Given the description of an element on the screen output the (x, y) to click on. 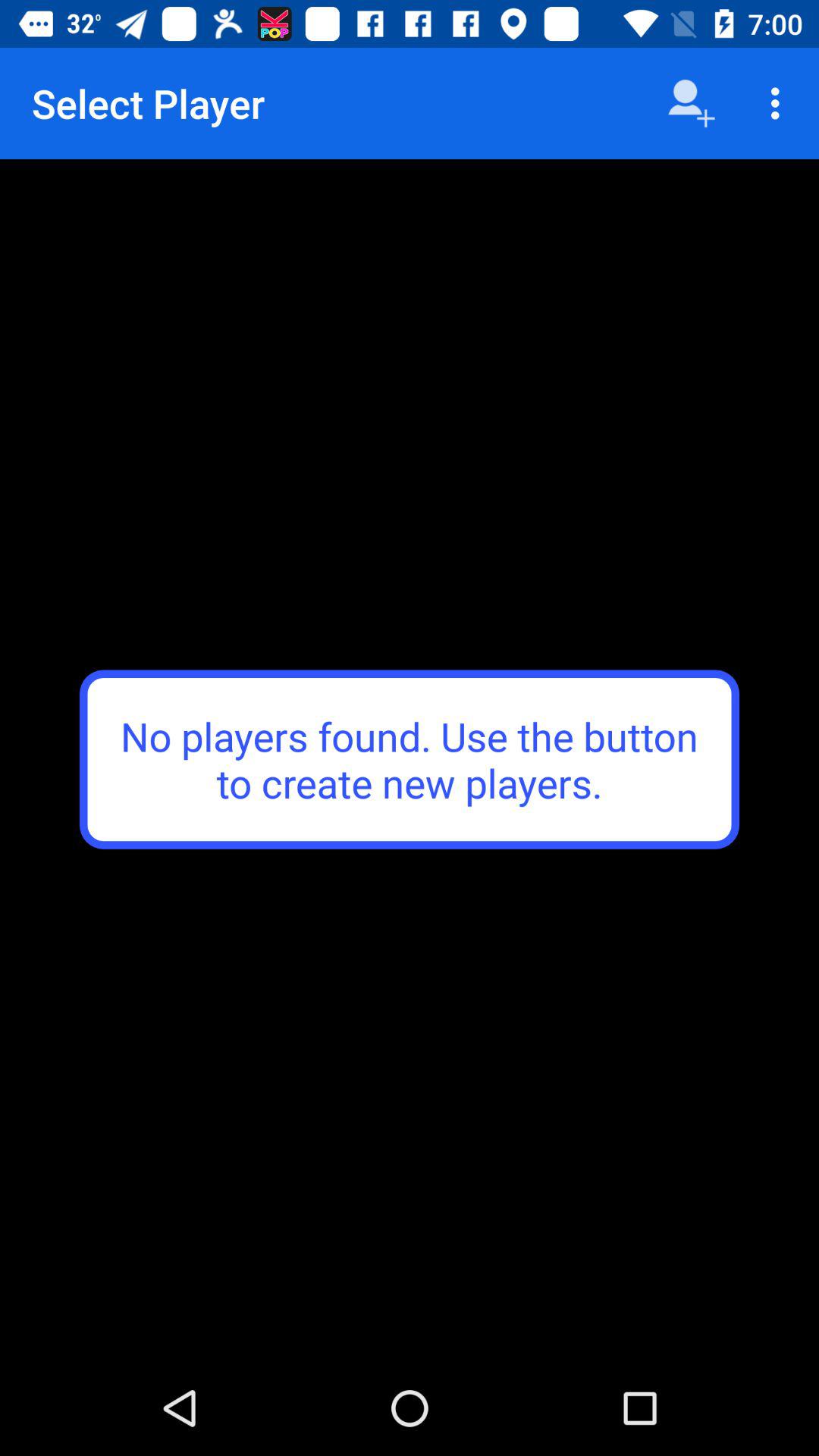
turn off the icon to the right of select player (691, 103)
